Given the description of an element on the screen output the (x, y) to click on. 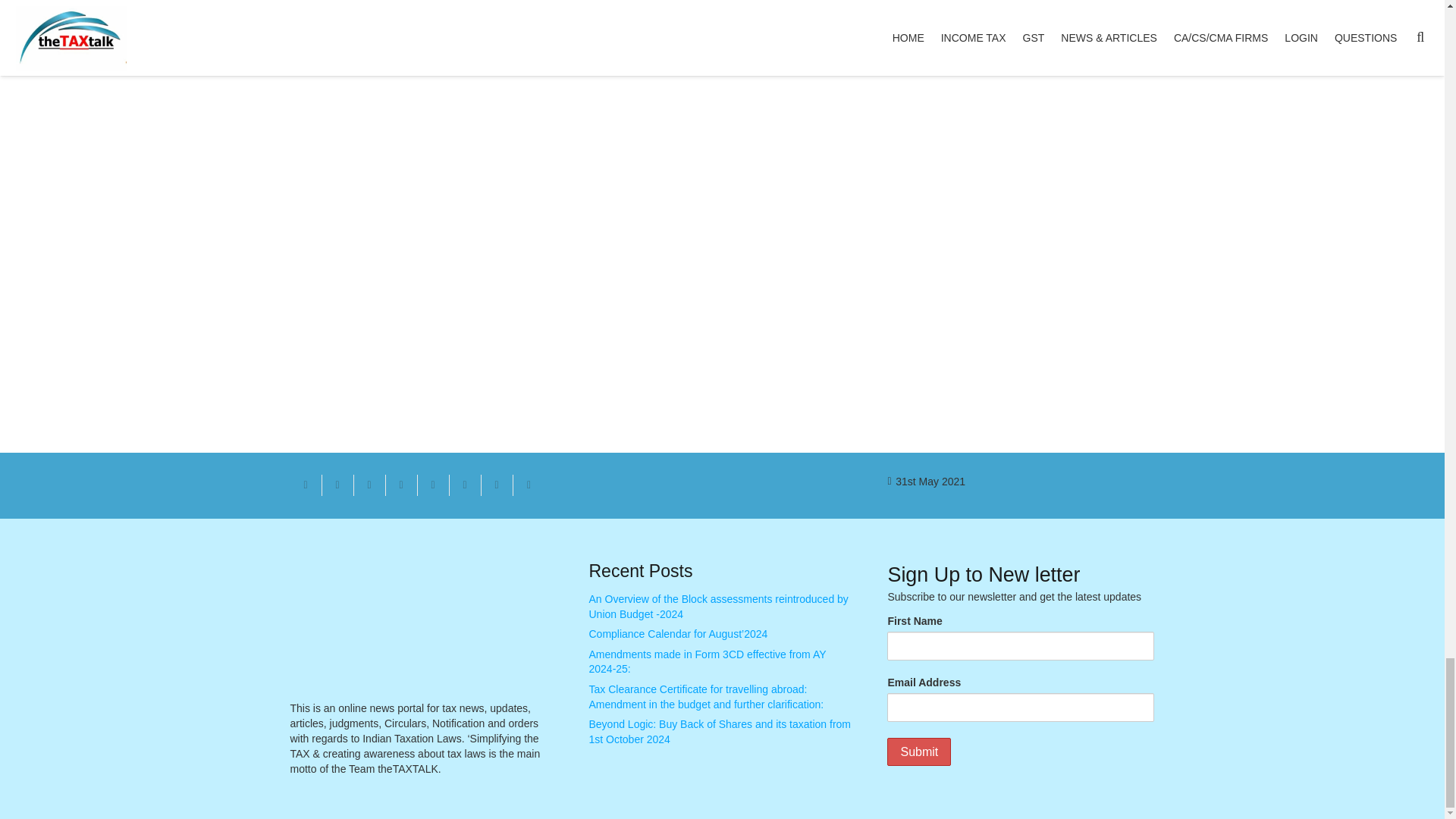
Share this (528, 485)
Share this (400, 485)
Tweet this (369, 485)
Email this (305, 485)
Share this (337, 485)
Share this (496, 485)
Share this (464, 485)
Pin this (432, 485)
Submit (918, 751)
